Given the description of an element on the screen output the (x, y) to click on. 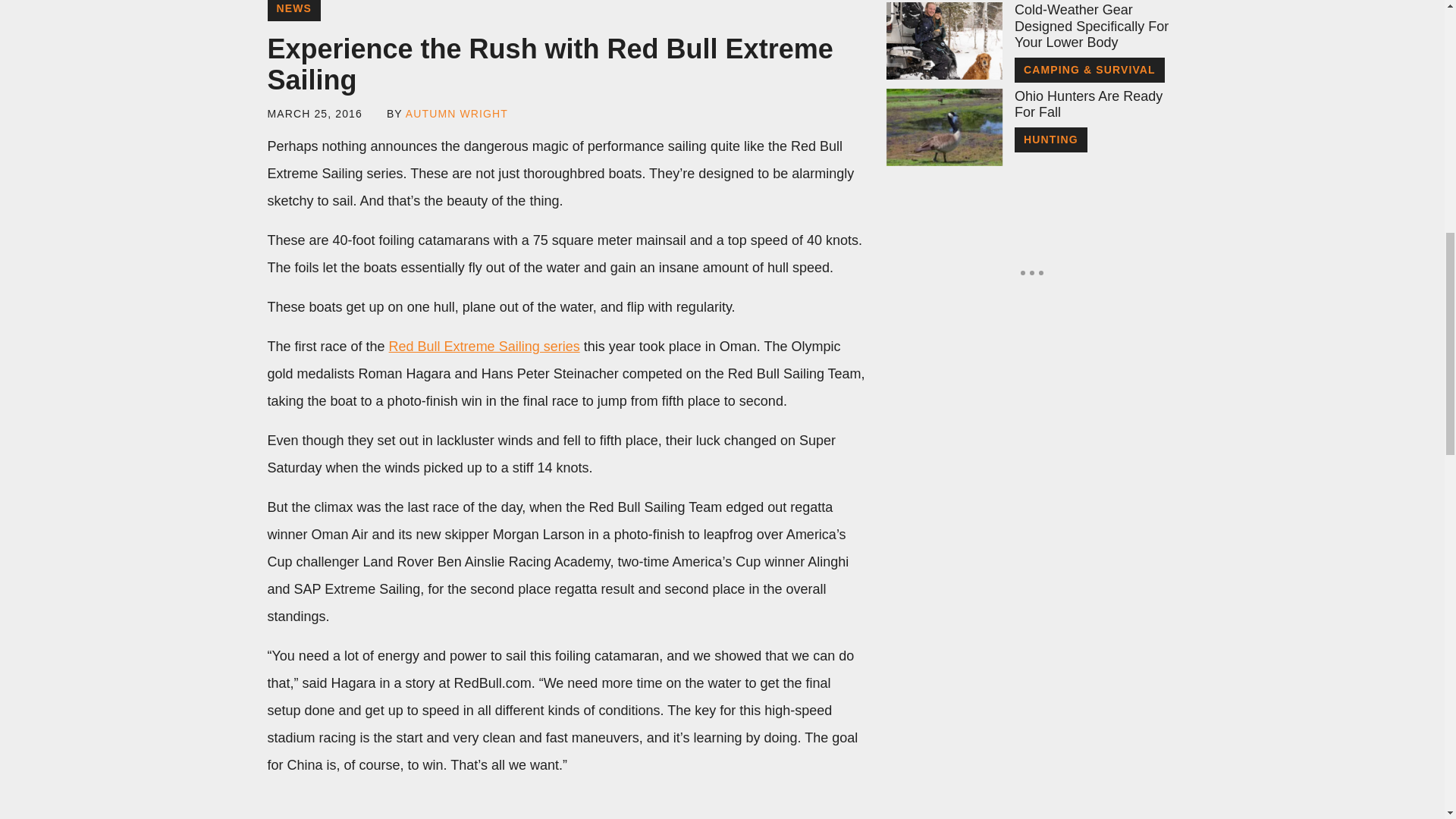
NEWS (293, 10)
AUTUMN WRIGHT (457, 113)
HUNTING (1050, 139)
Cold-Weather Gear Designed Specifically For Your Lower Body (1095, 26)
Ohio Hunters Are Ready For Fall (1095, 104)
Ohio Hunters Are Ready For Fall (1095, 104)
Cold-Weather Gear Designed Specifically For Your Lower Body (944, 40)
Red Bull Extreme Sailing series (483, 346)
Cold-Weather Gear Designed Specifically For Your Lower Body (1095, 26)
Ohio Hunters Are Ready For Fall (944, 127)
